Given the description of an element on the screen output the (x, y) to click on. 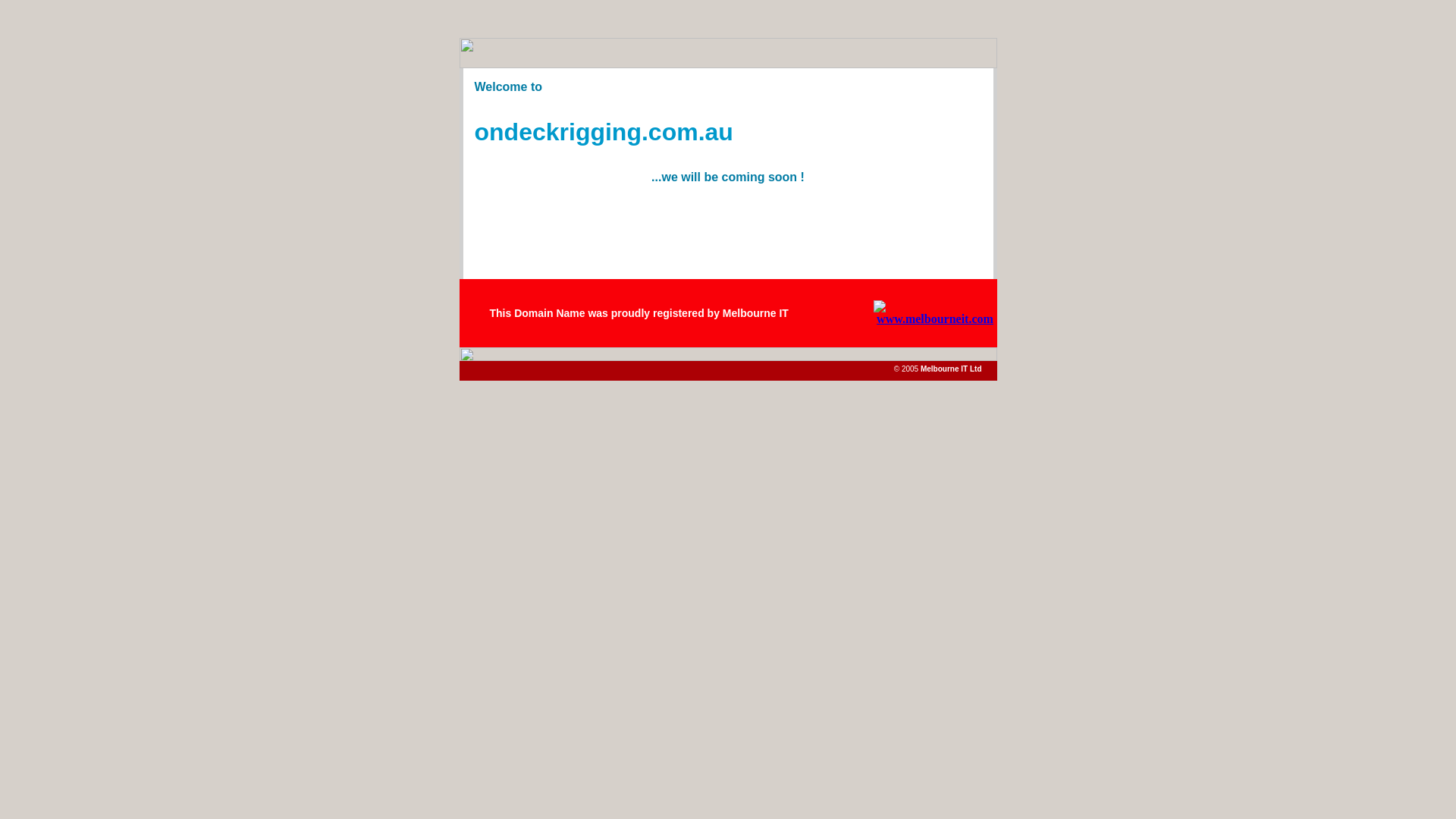
Melbourne IT Element type: text (755, 313)
Melbourne IT Ltd Element type: text (951, 372)
